Given the description of an element on the screen output the (x, y) to click on. 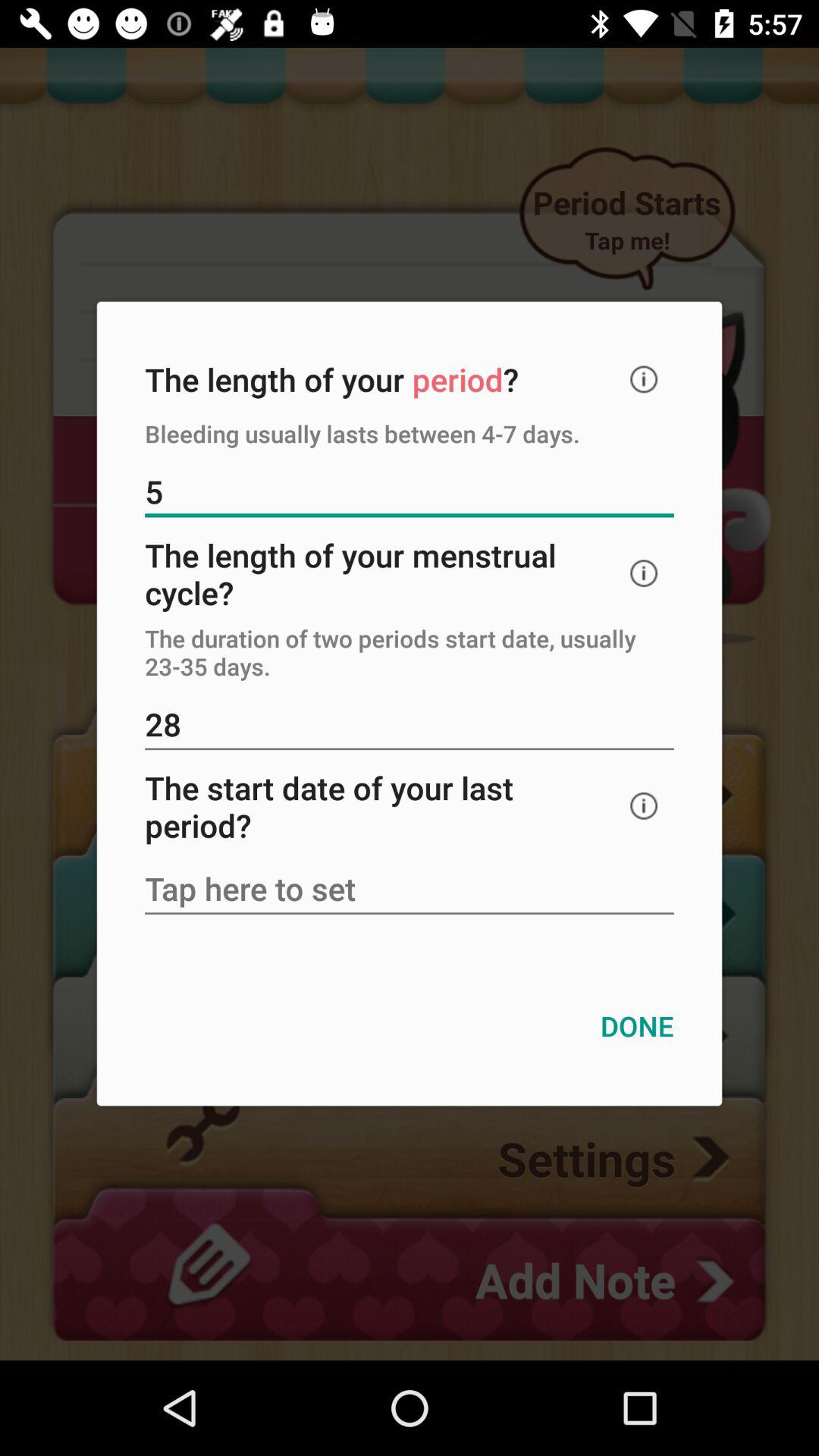
open more information about an iten (643, 573)
